Given the description of an element on the screen output the (x, y) to click on. 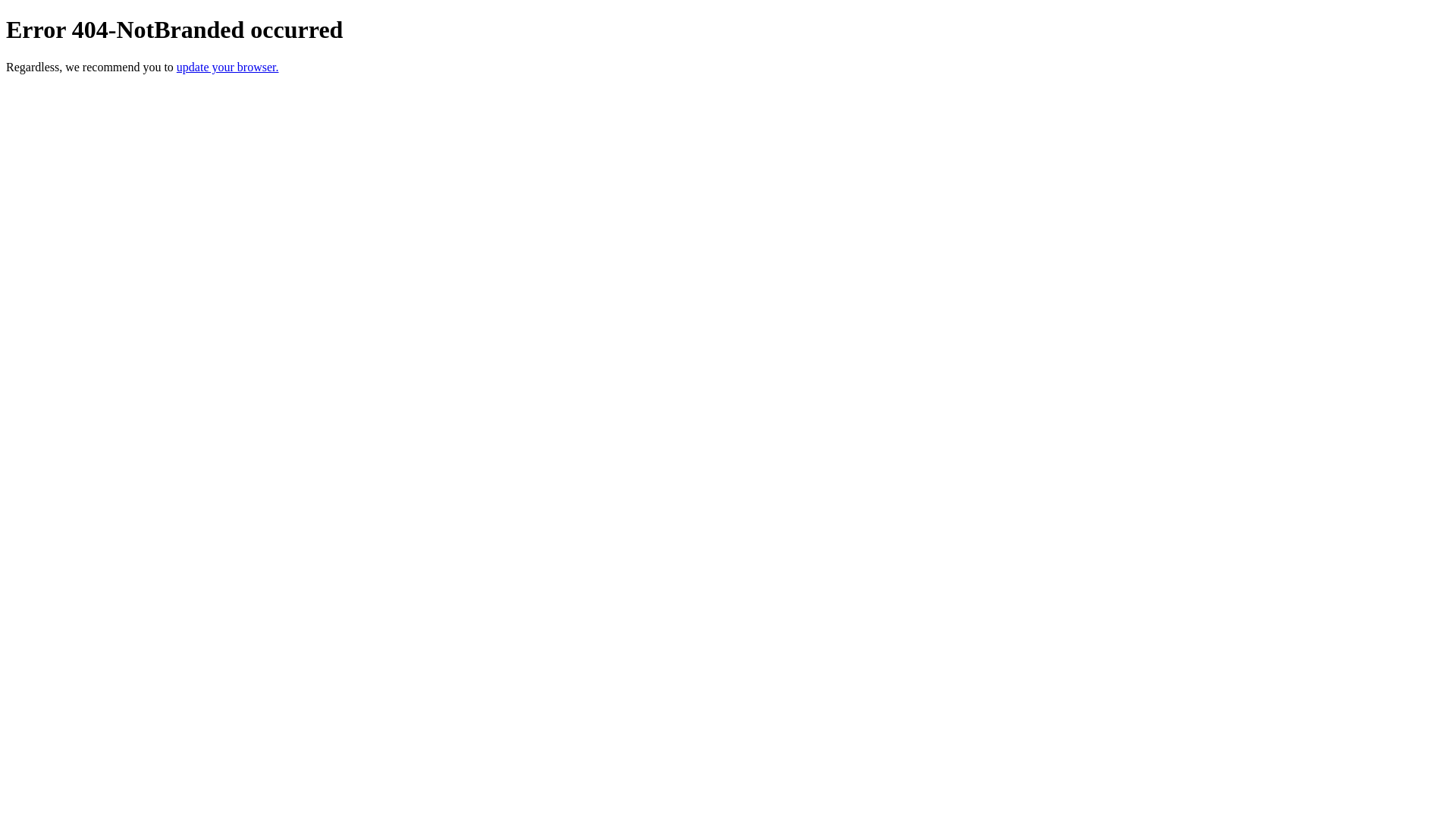
update your browser. Element type: text (227, 66)
